Given the description of an element on the screen output the (x, y) to click on. 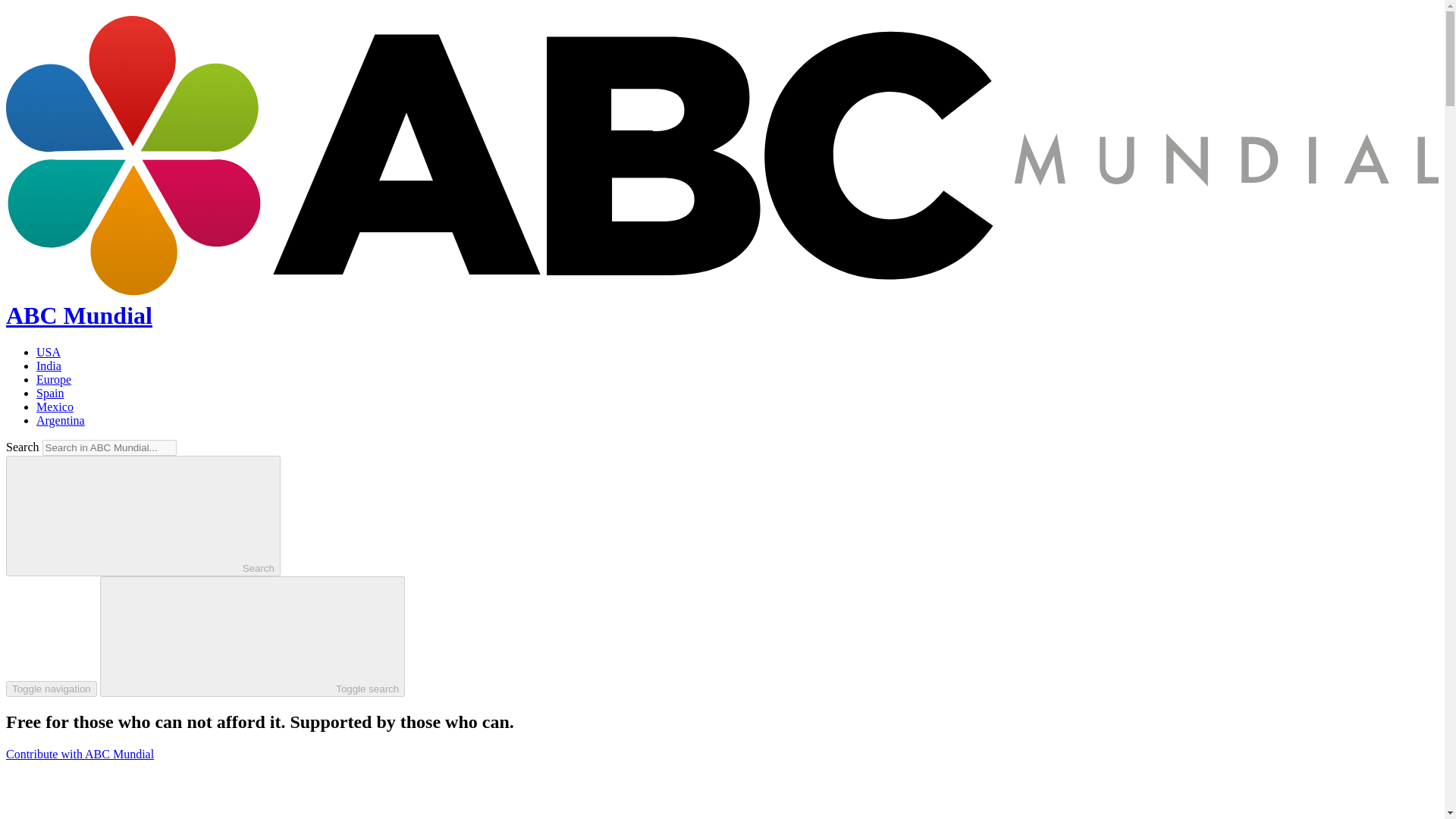
Mexico (55, 406)
Toggle navigation (51, 688)
USA (48, 351)
Enter the terms you wish to search for. (109, 447)
Search (143, 515)
Toggle search (252, 636)
Spain (50, 392)
India (48, 365)
Contribute with ABC Mundial (79, 753)
Europe (53, 379)
